Given the description of an element on the screen output the (x, y) to click on. 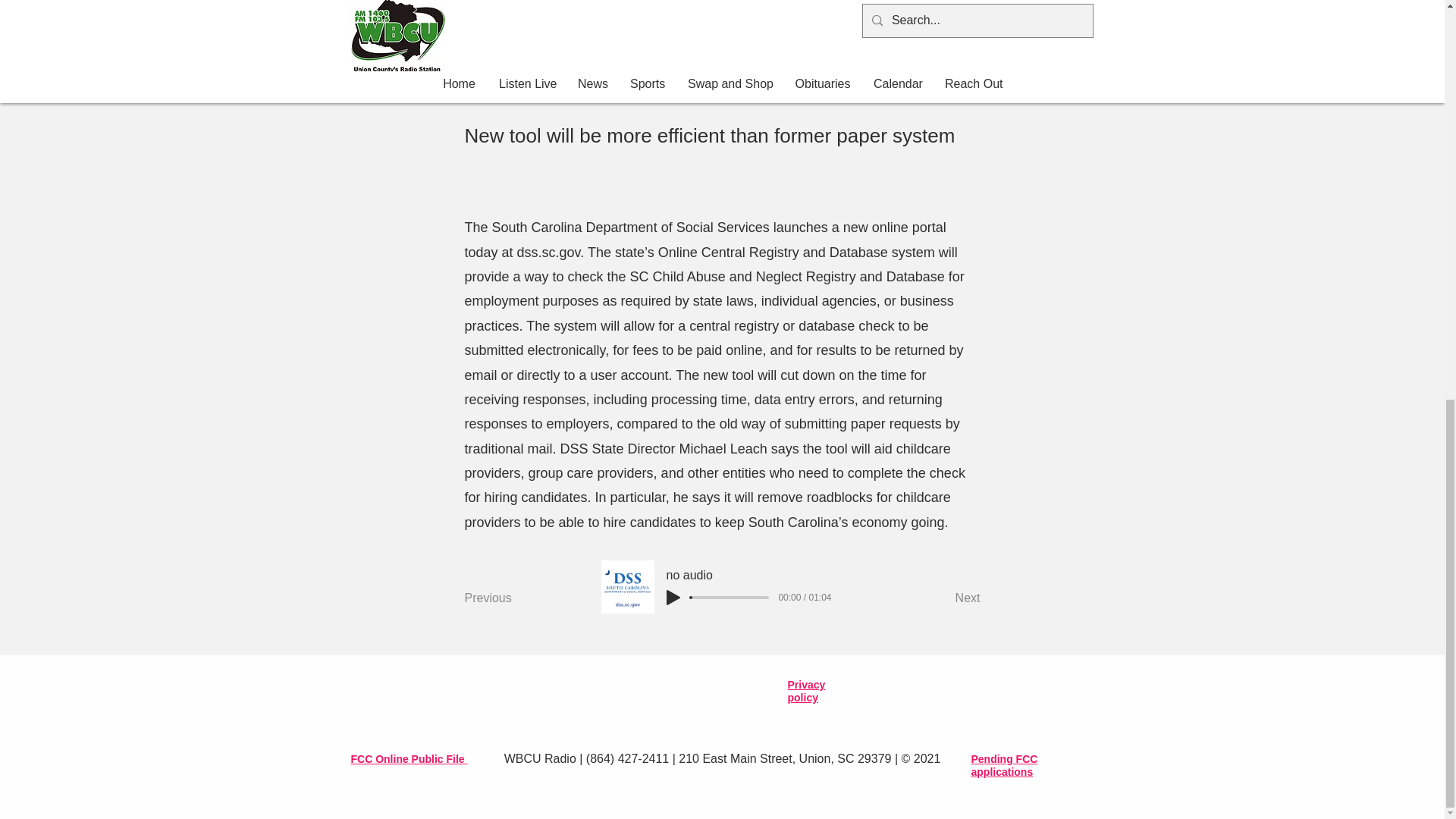
Previous (514, 598)
FCC Online Public File  (408, 758)
Pending FCC applications (1003, 765)
Next (941, 598)
Privacy policy (806, 691)
0 (729, 597)
